Given the description of an element on the screen output the (x, y) to click on. 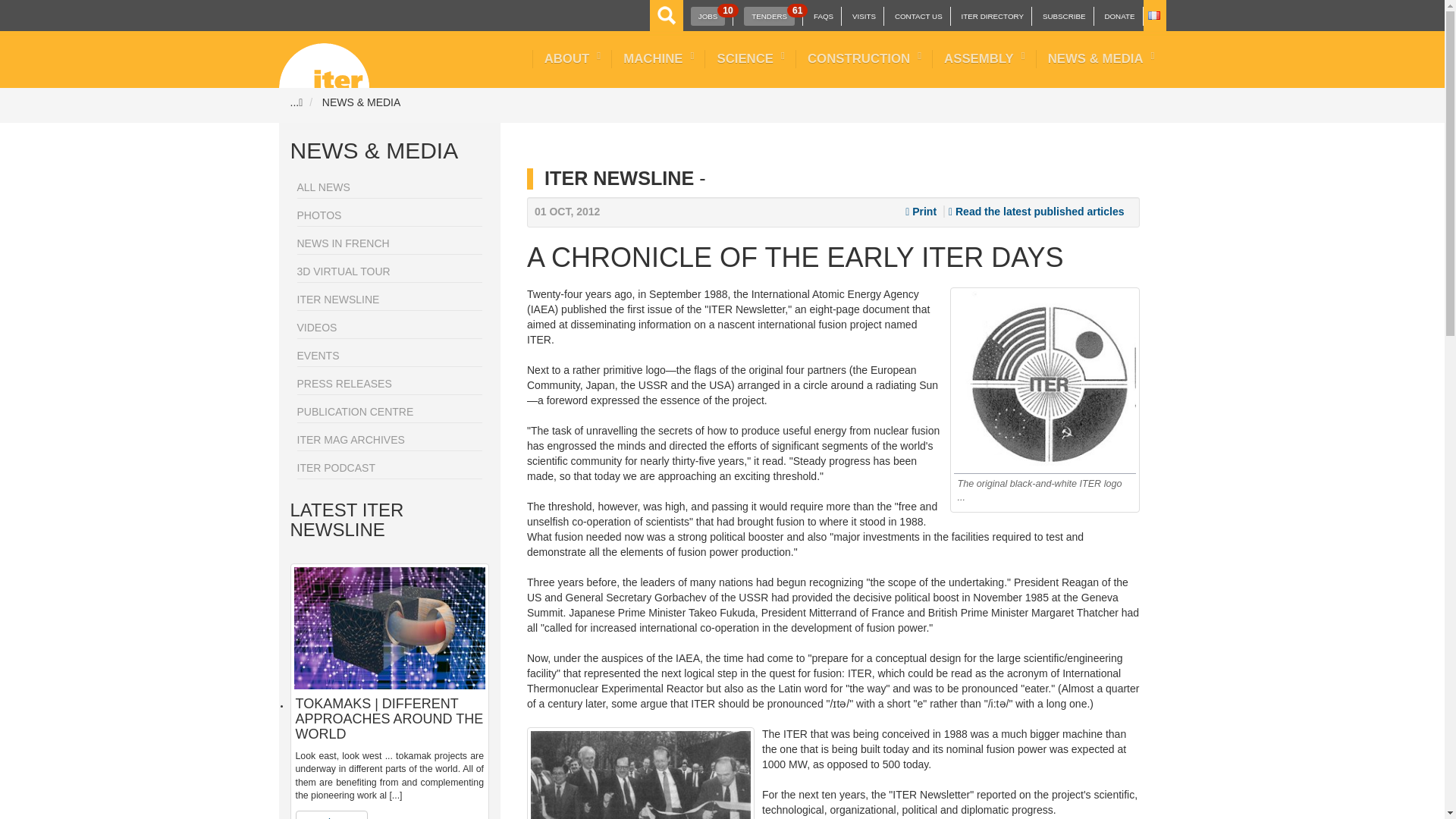
FAQS (822, 16)
CONTACT US (918, 16)
ITER Organization - Homepage (324, 59)
ITER DIRECTORY (991, 16)
DONATE (1118, 16)
SUBSCRIBE (1064, 16)
VISITS (707, 15)
